Given the description of an element on the screen output the (x, y) to click on. 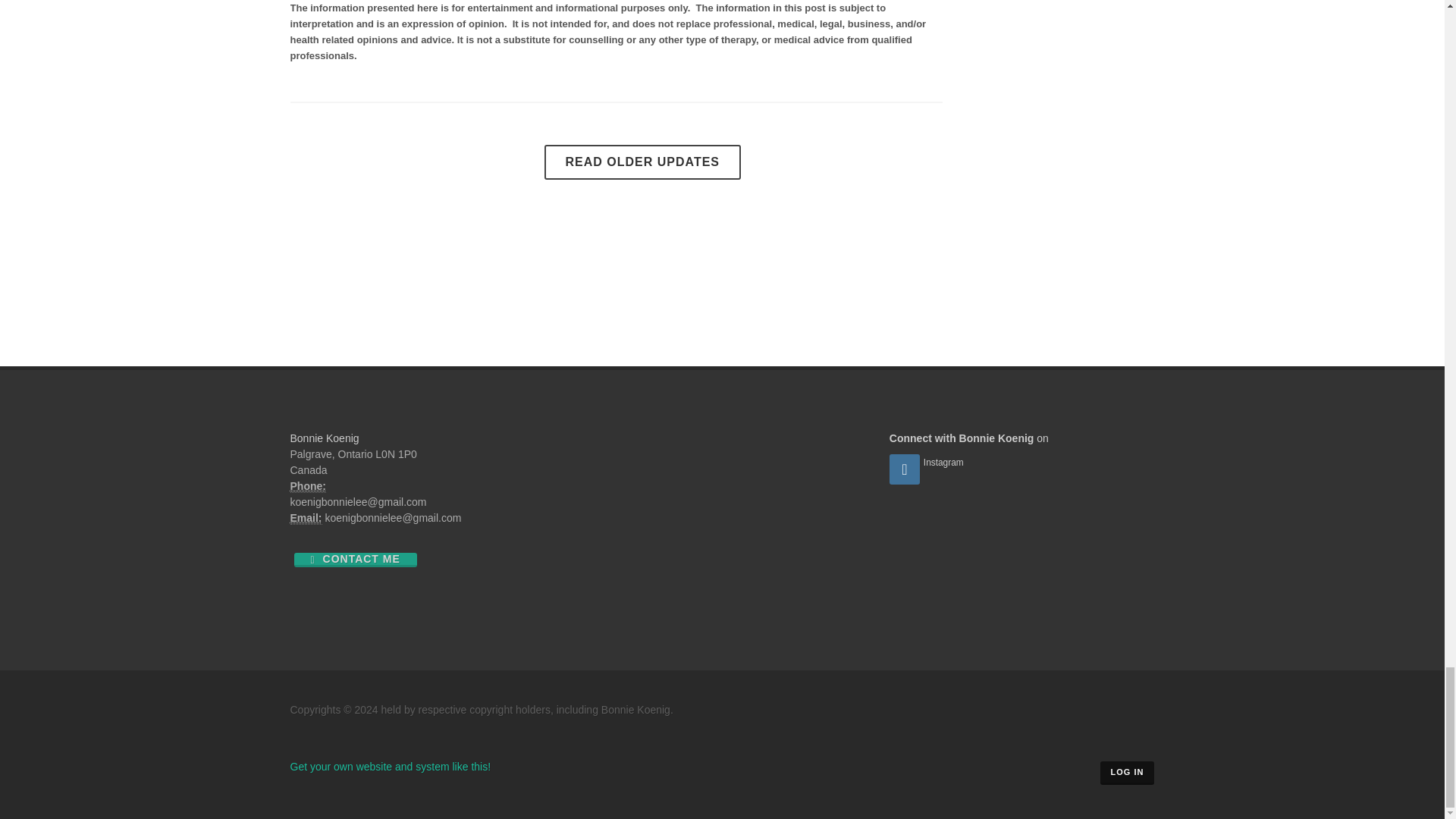
Phone Number (306, 486)
Email Address (305, 517)
